Given the description of an element on the screen output the (x, y) to click on. 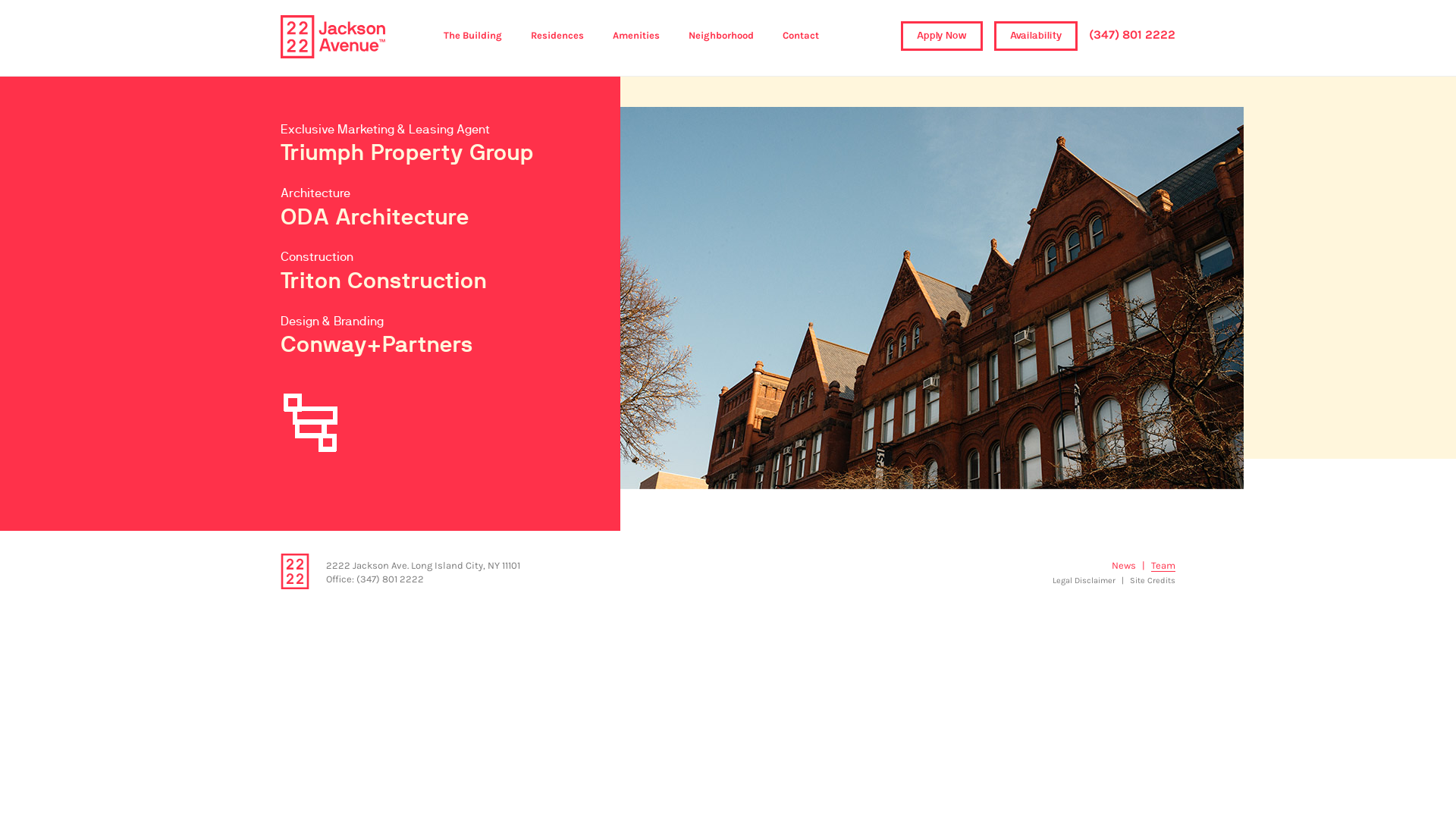
Triumph Property Group Element type: text (406, 152)
2222 Jackson Avenue Element type: text (294, 571)
Site Credits Element type: text (1152, 580)
Conway+Partners Element type: text (376, 344)
Amenities Element type: text (635, 34)
Triton Construction Element type: text (383, 280)
Residences Element type: text (556, 34)
ODA Architecture Element type: text (374, 217)
2222 Jackson Ave. Long Island City, NY 11101 Element type: text (423, 565)
Legal Disclaimer Element type: text (1083, 580)
(347) 801 2222 Element type: text (1131, 34)
Neighborhood Element type: text (720, 34)
Office: (347) 801 2222 Element type: text (374, 578)
Availability Element type: text (1035, 35)
The Building Element type: text (472, 34)
Contact Element type: text (800, 34)
Apply Now Element type: text (941, 35)
News Element type: text (1123, 565)
2222 Jackson Avenue Element type: text (332, 36)
Team Element type: text (1163, 565)
